Given the description of an element on the screen output the (x, y) to click on. 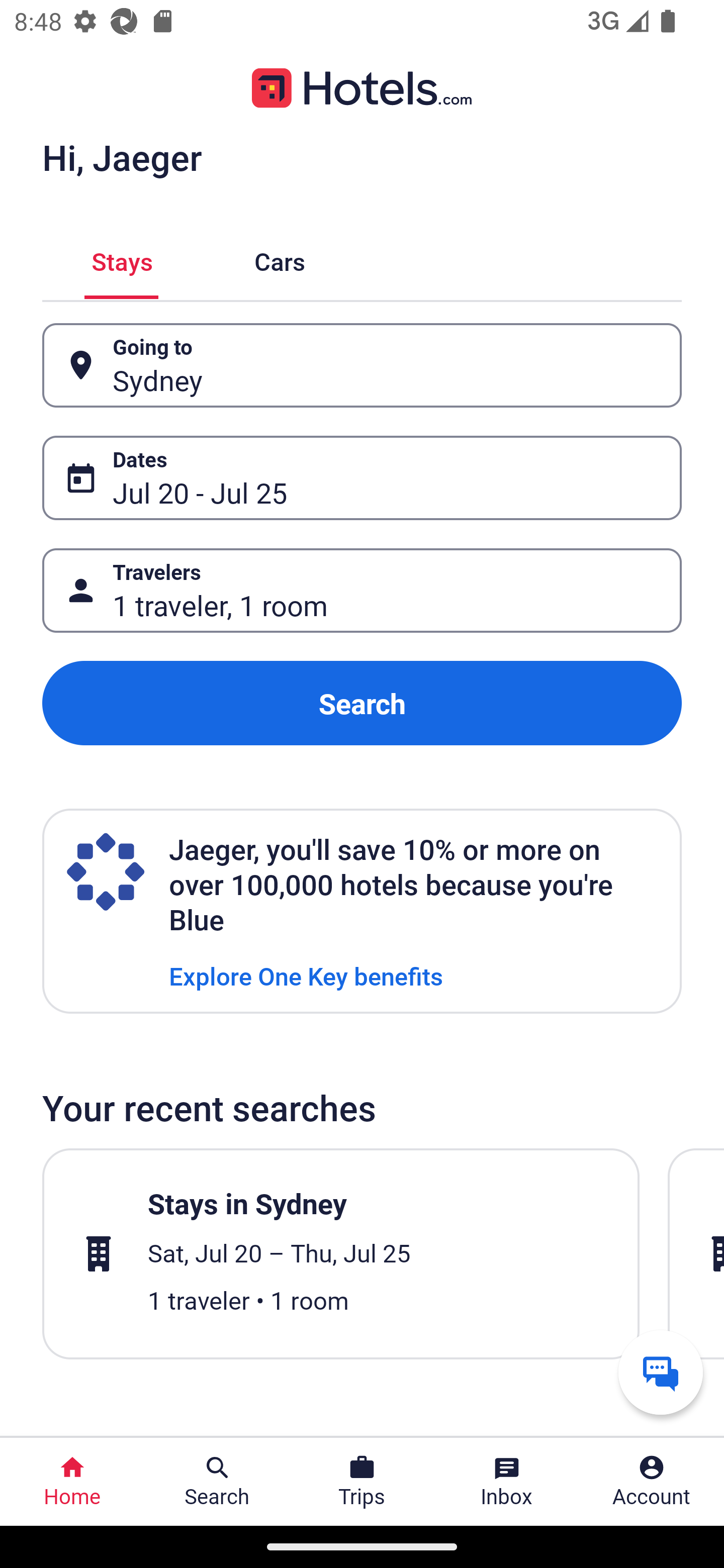
Hi, Jaeger (121, 156)
Cars (279, 259)
Going to Button Sydney (361, 365)
Dates Button Jul 20 - Jul 25 (361, 477)
Travelers Button 1 traveler, 1 room (361, 590)
Search (361, 702)
Get help from a virtual agent (660, 1371)
Search Search Button (216, 1481)
Trips Trips Button (361, 1481)
Inbox Inbox Button (506, 1481)
Account Profile. Button (651, 1481)
